Given the description of an element on the screen output the (x, y) to click on. 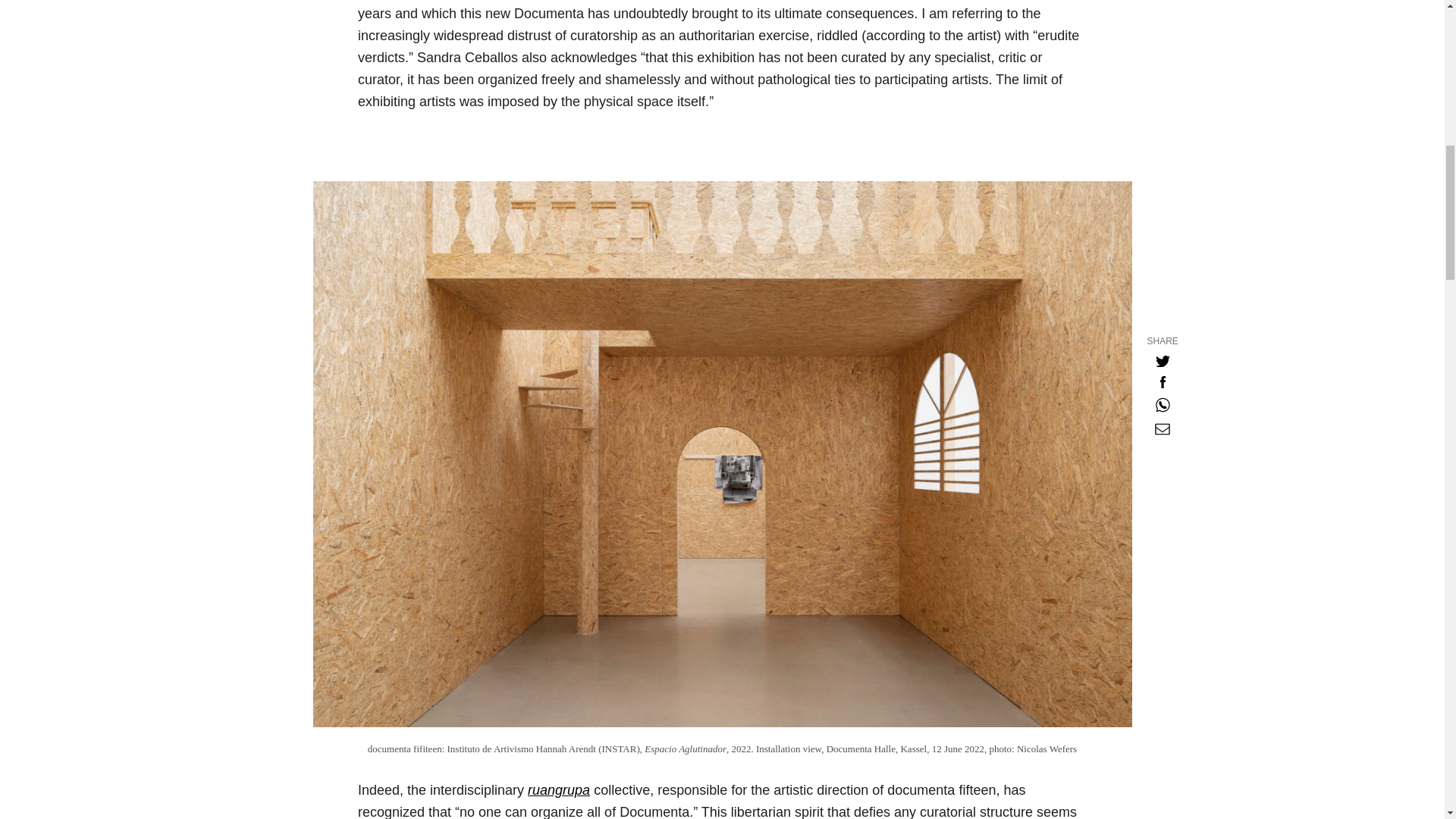
ruangrupa (558, 789)
